Given the description of an element on the screen output the (x, y) to click on. 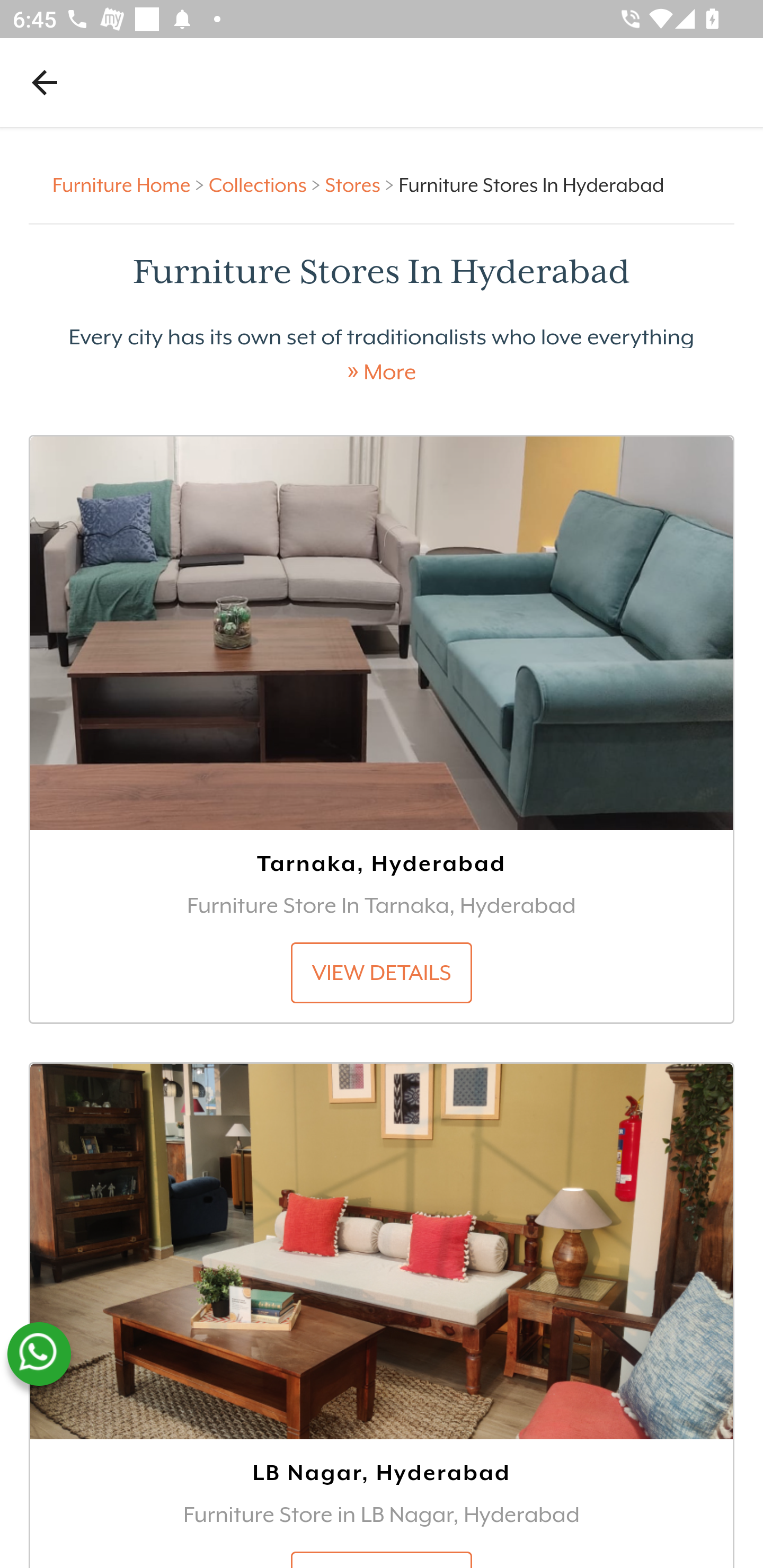
Navigate up (44, 82)
Furniture Home >  Furniture Home  >  (130, 184)
Collections >  Collections  >  (266, 184)
Stores >  Stores  >  (361, 184)
» More (381, 372)
VIEW DETAILS (381, 973)
whatsapp (38, 1353)
